Given the description of an element on the screen output the (x, y) to click on. 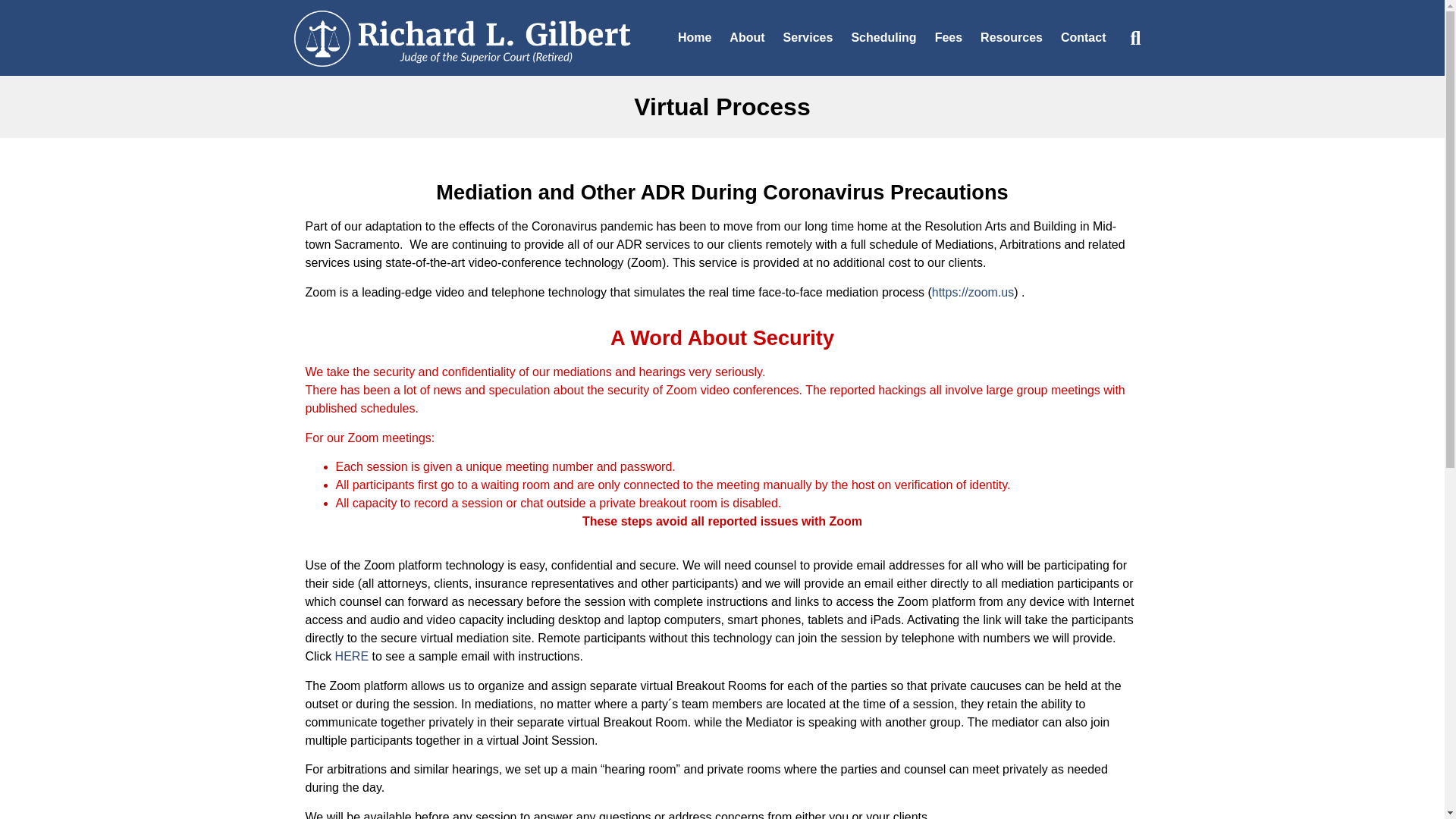
Services (808, 38)
Scheduling (882, 38)
Resources (1011, 38)
HERE (351, 656)
